Given the description of an element on the screen output the (x, y) to click on. 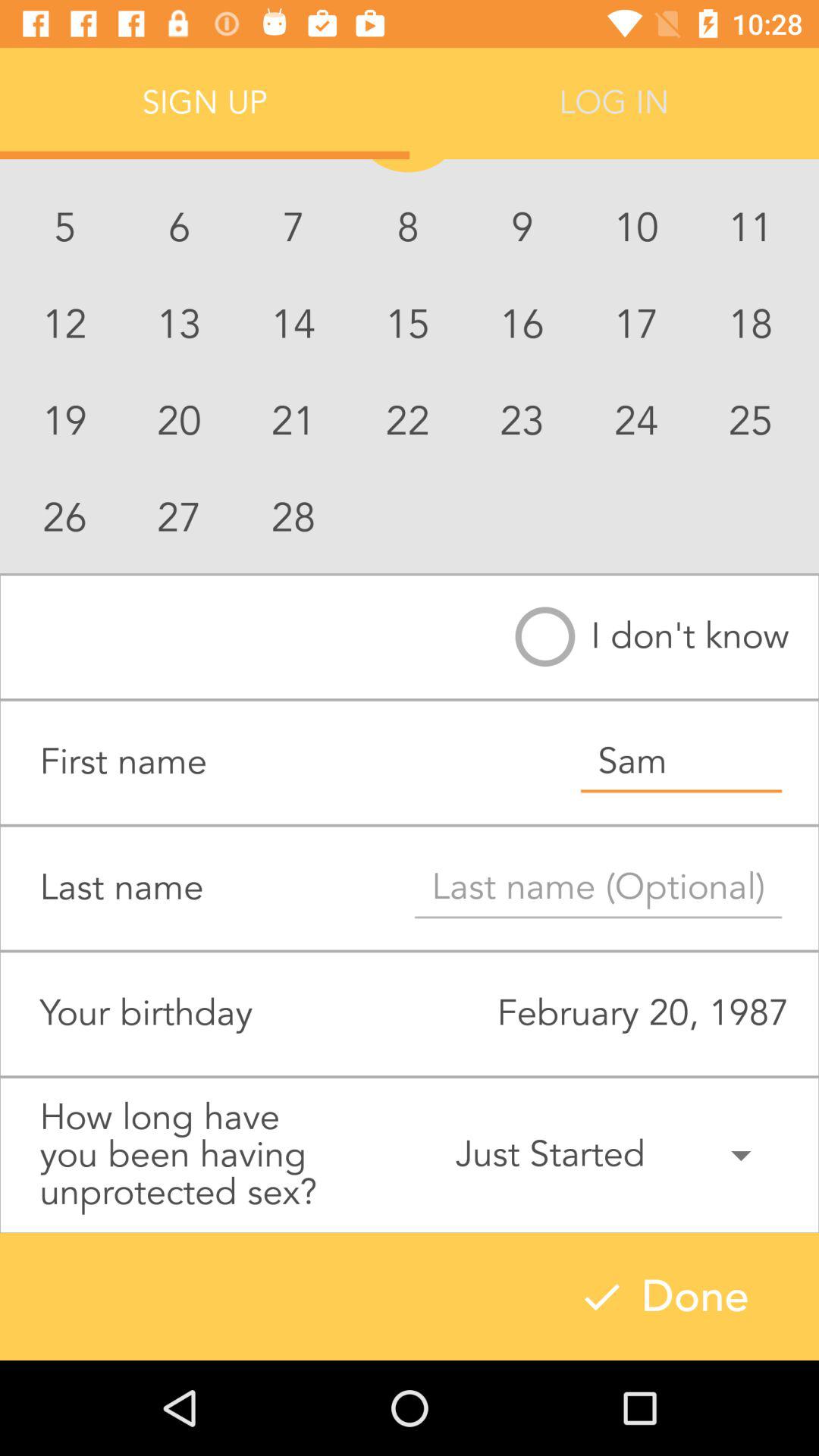
enter last name (597, 888)
